Given the description of an element on the screen output the (x, y) to click on. 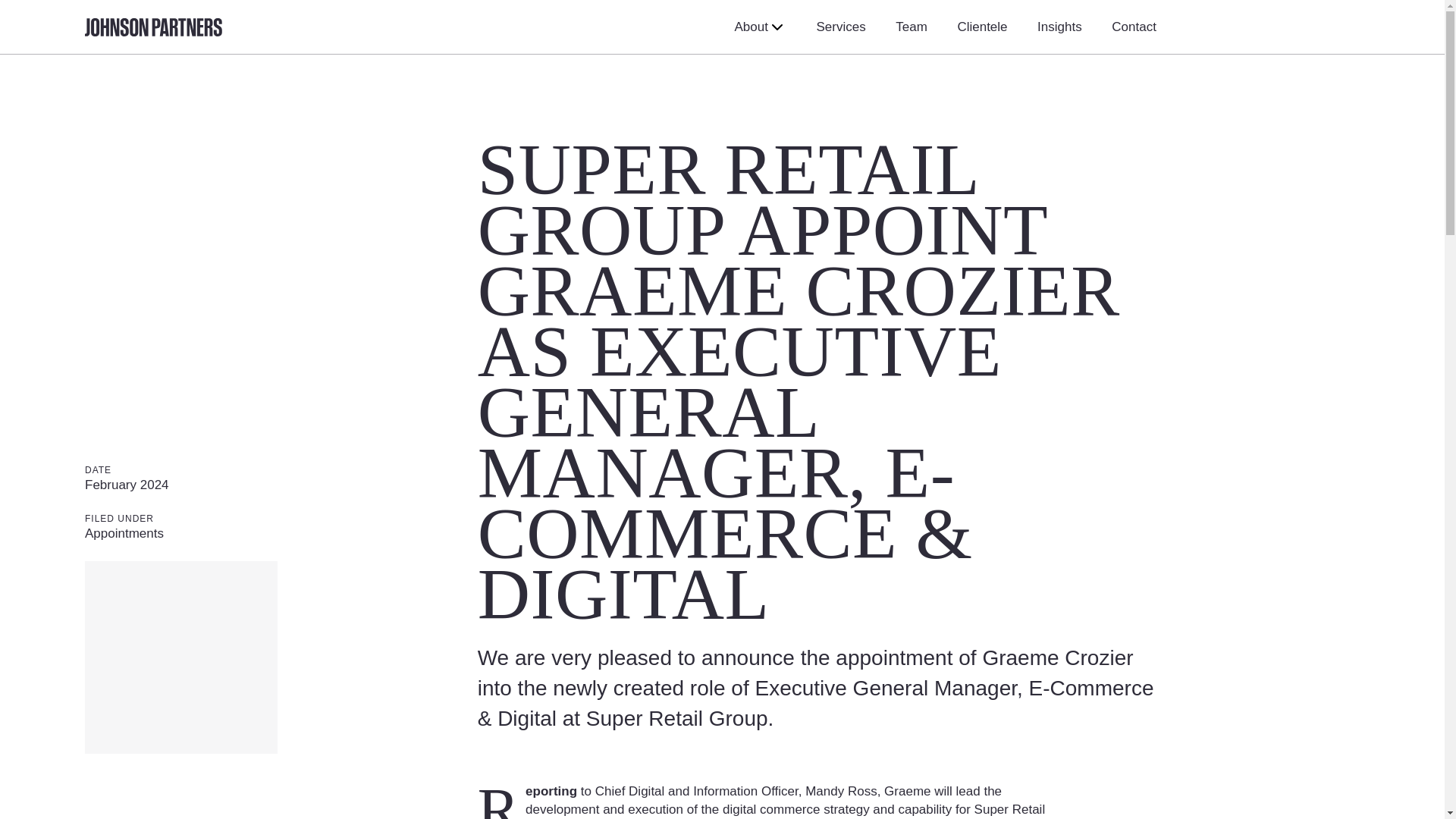
Website Credits (791, 792)
Clientele (981, 27)
Insights (1058, 27)
Team (911, 27)
About (759, 27)
Services (839, 27)
Appointments (123, 533)
Subscribe (809, 474)
Contact (1134, 27)
